Given the description of an element on the screen output the (x, y) to click on. 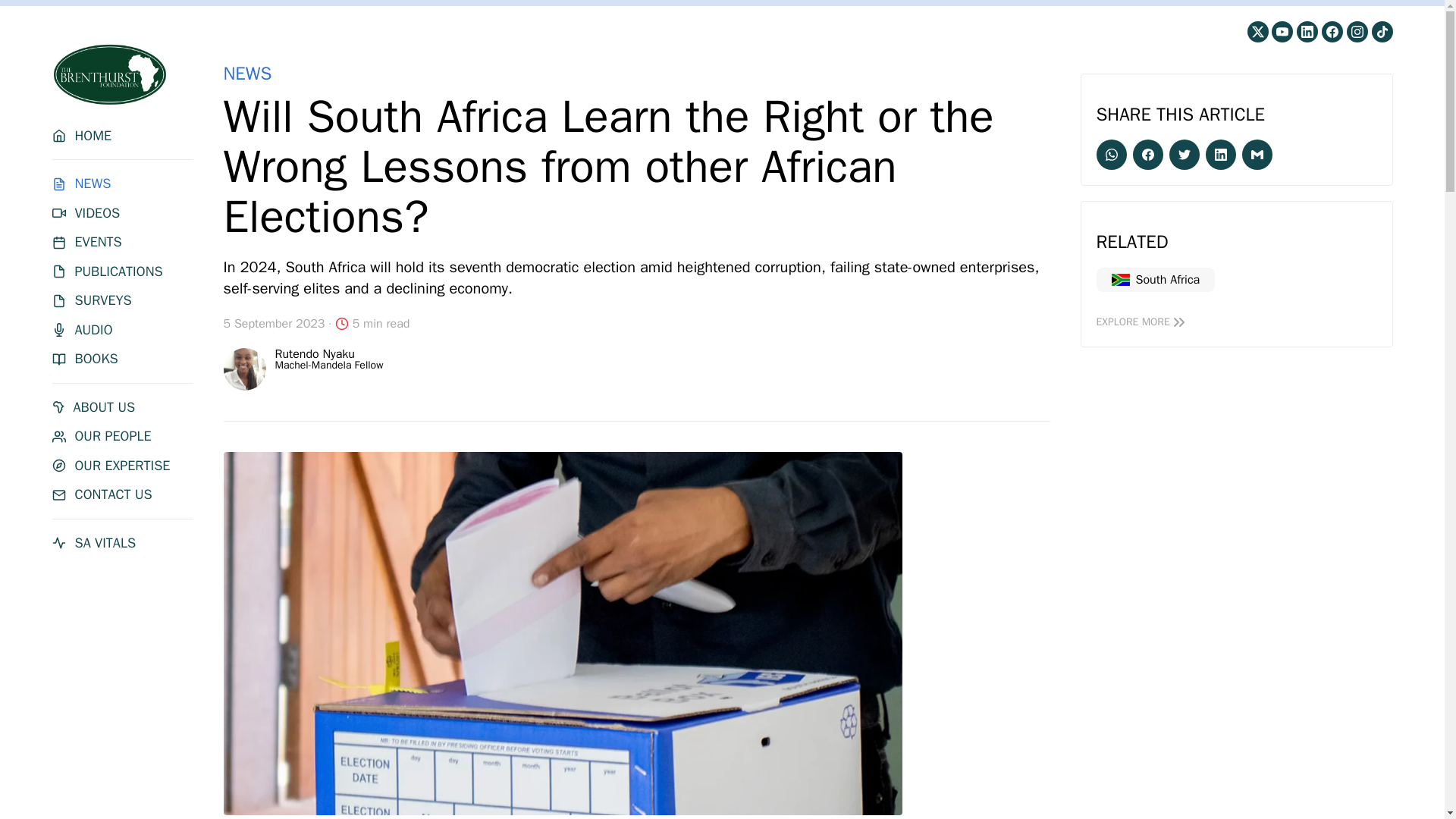
Share via email (1256, 154)
VIDEOS (121, 212)
Share on Facebook (1147, 154)
OUR PEOPLE (121, 436)
AUDIO (121, 330)
PUBLICATIONS (121, 271)
Share on Twitter (1184, 154)
ABOUT US (121, 407)
BOOKS (121, 358)
SURVEYS (121, 300)
